Given the description of an element on the screen output the (x, y) to click on. 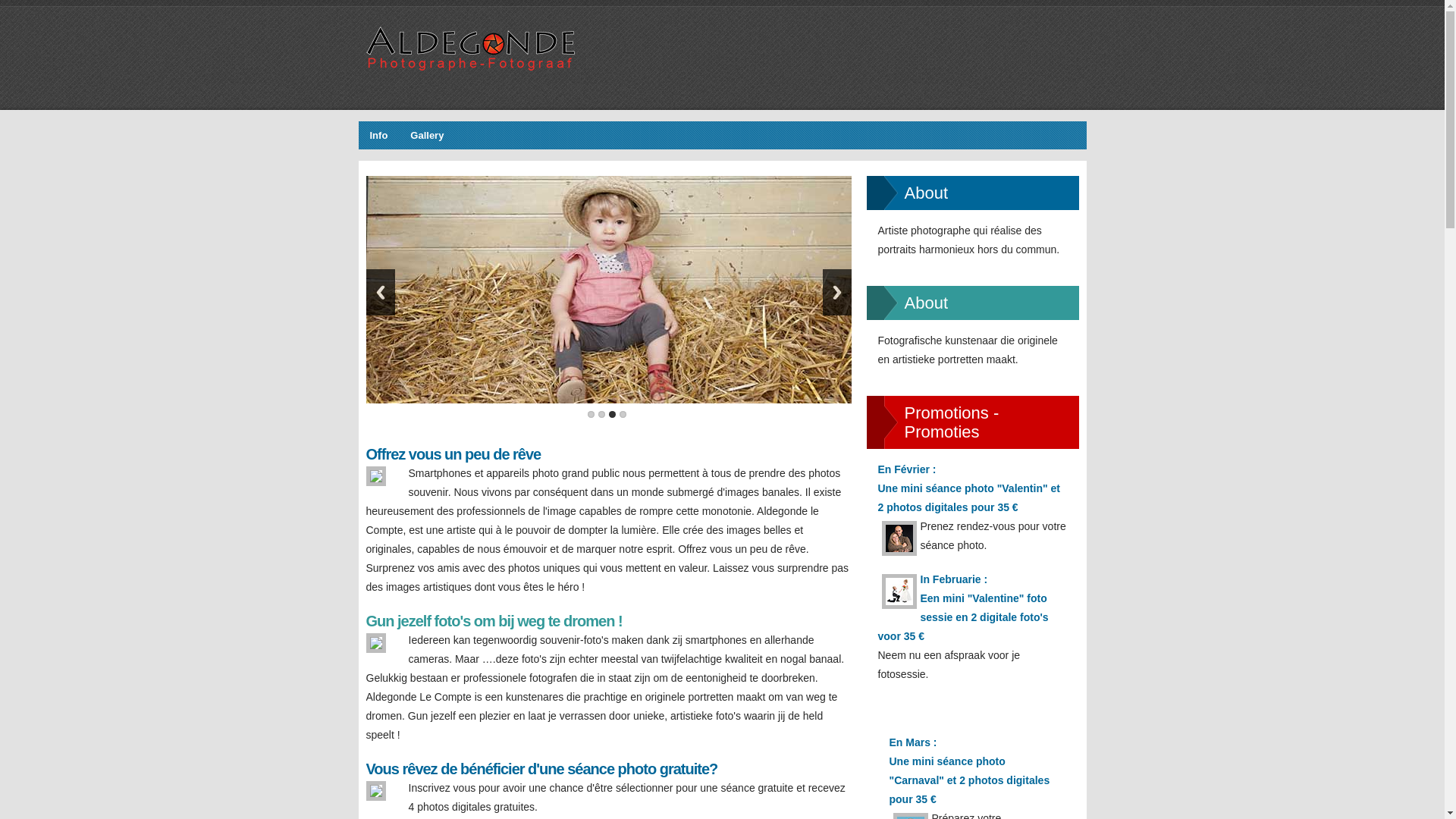
3 Element type: text (611, 414)
Gallery Element type: text (426, 135)
4 Element type: text (621, 414)
2 Element type: text (600, 414)
1 Element type: text (589, 414)
Next Element type: text (836, 291)
Info Element type: text (378, 135)
Previous Element type: text (379, 291)
